Given the description of an element on the screen output the (x, y) to click on. 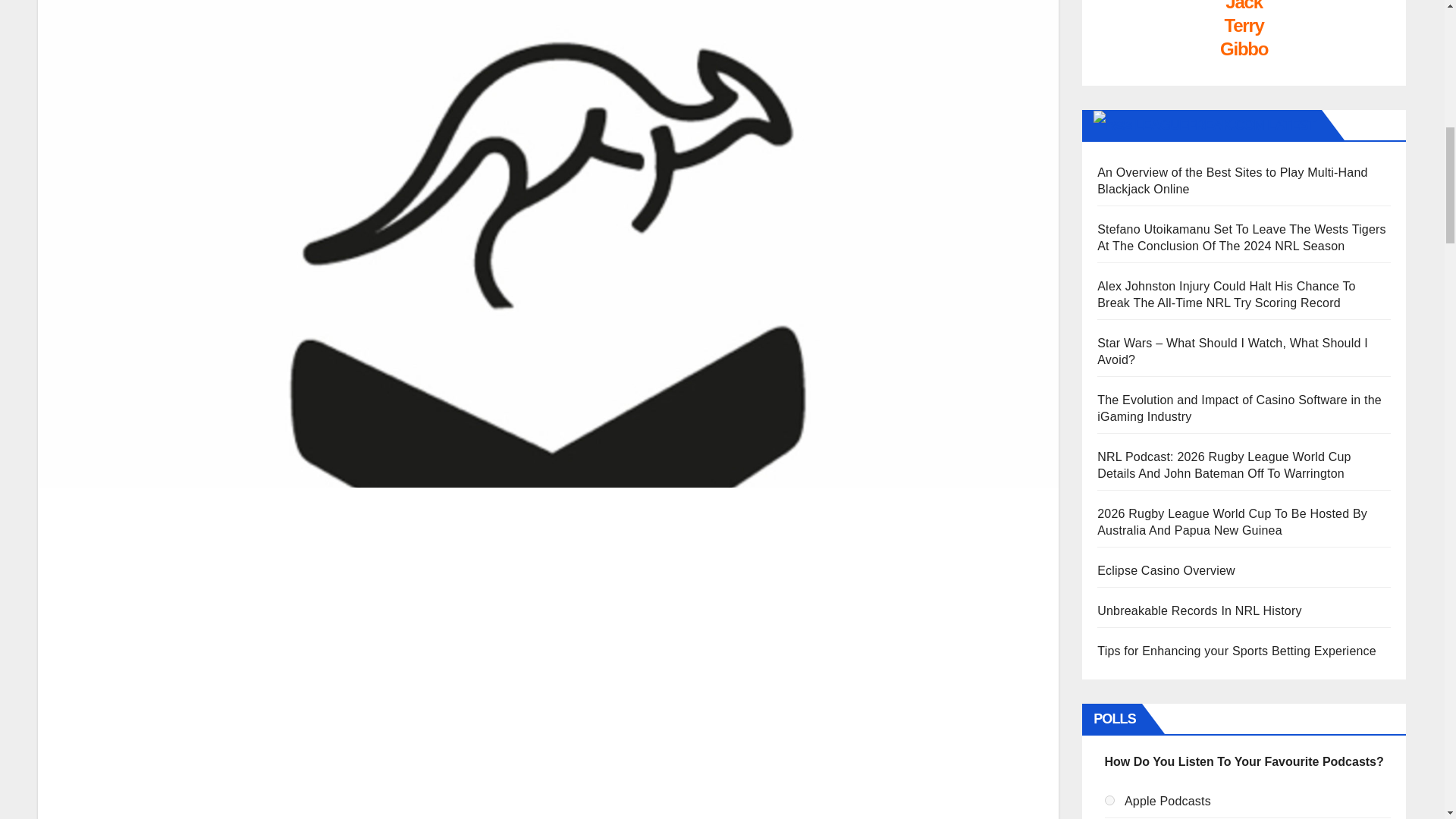
6 (1110, 800)
